Given the description of an element on the screen output the (x, y) to click on. 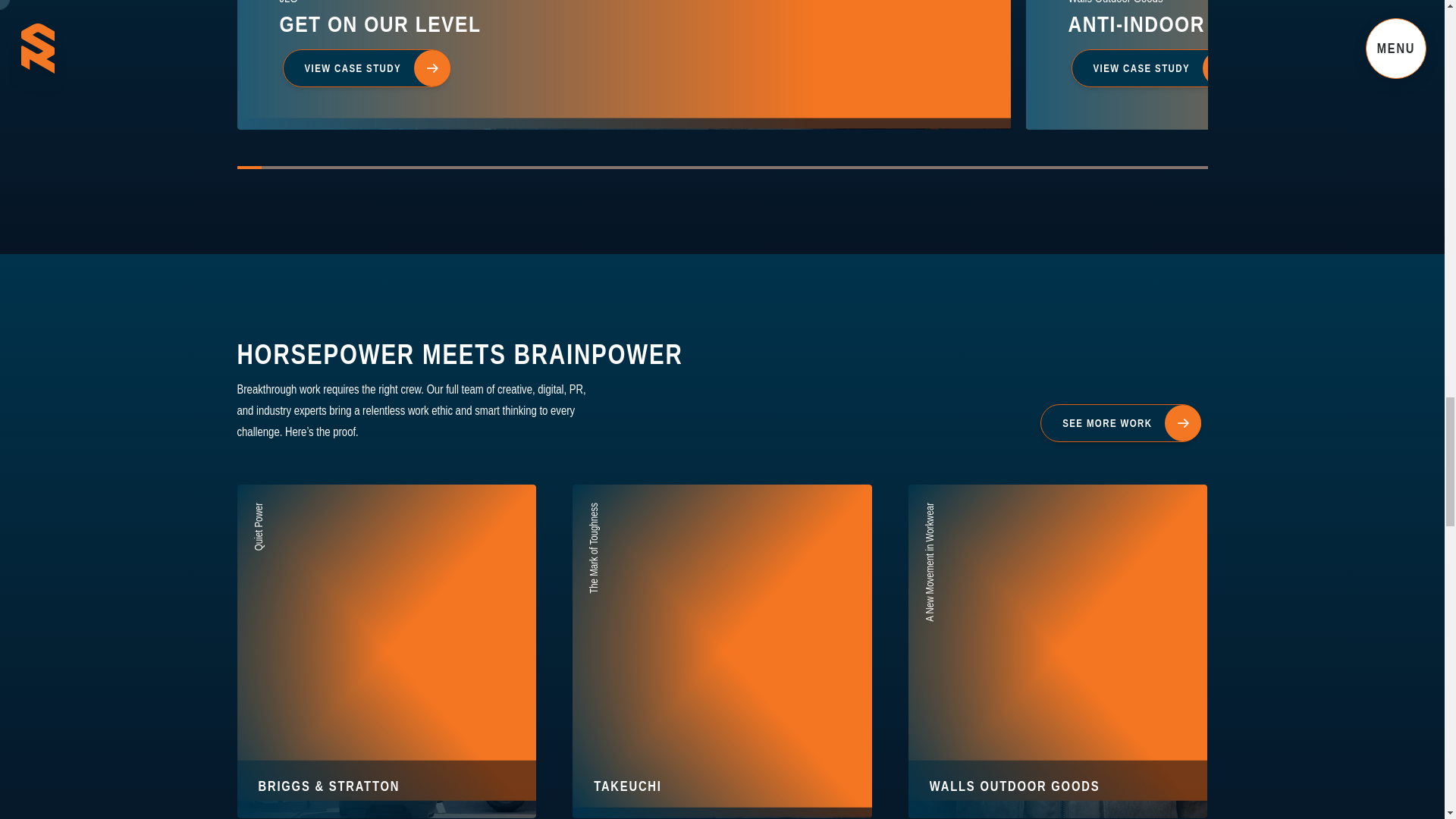
VIEW CASE STUDY (1154, 68)
SEE MORE WORK (722, 651)
VIEW CASE STUDY (1120, 422)
SEE MORE WORK (366, 68)
